Given the description of an element on the screen output the (x, y) to click on. 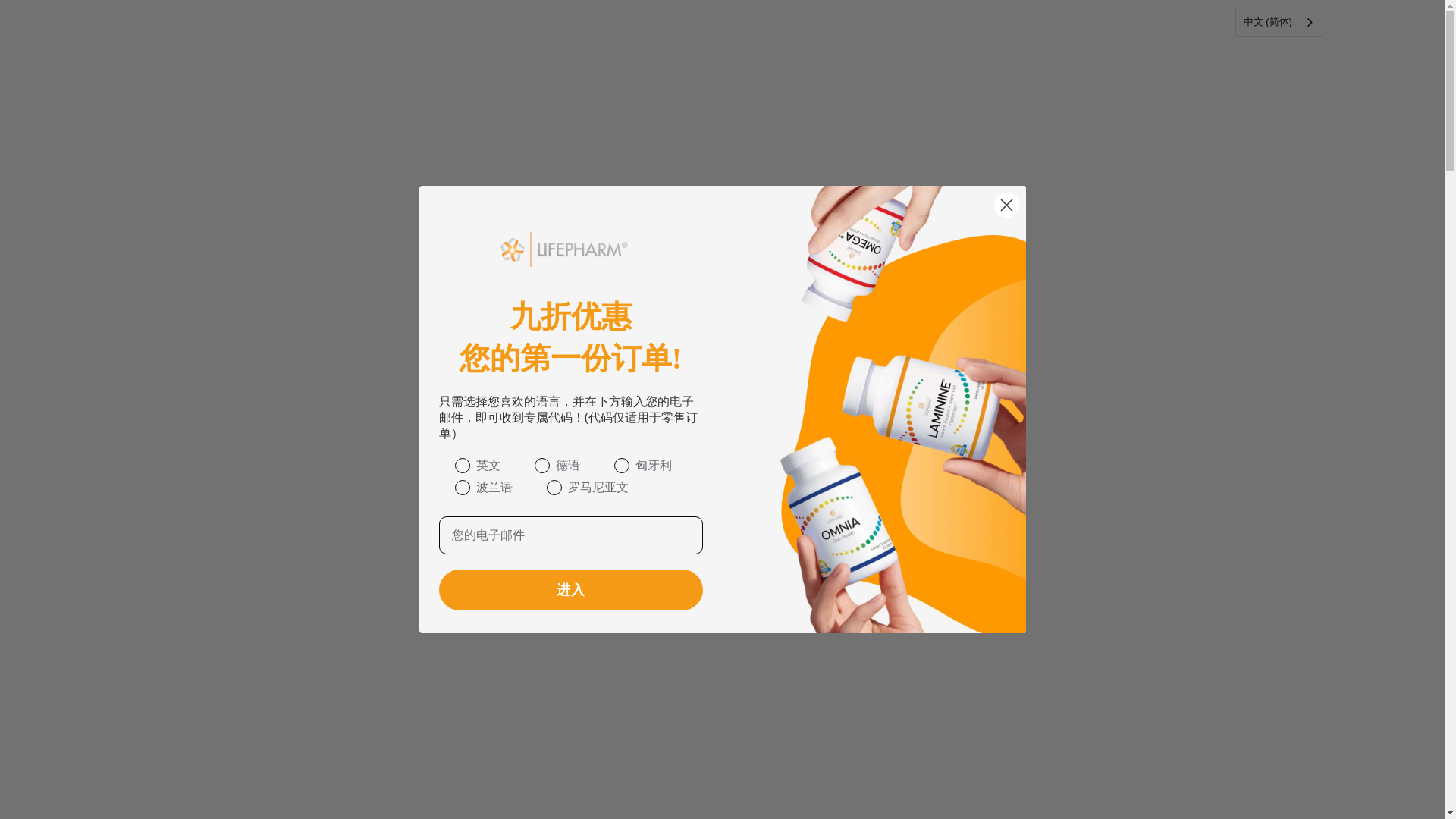
on (535, 490)
on (601, 468)
on (443, 490)
on (443, 468)
on (523, 468)
